Given the description of an element on the screen output the (x, y) to click on. 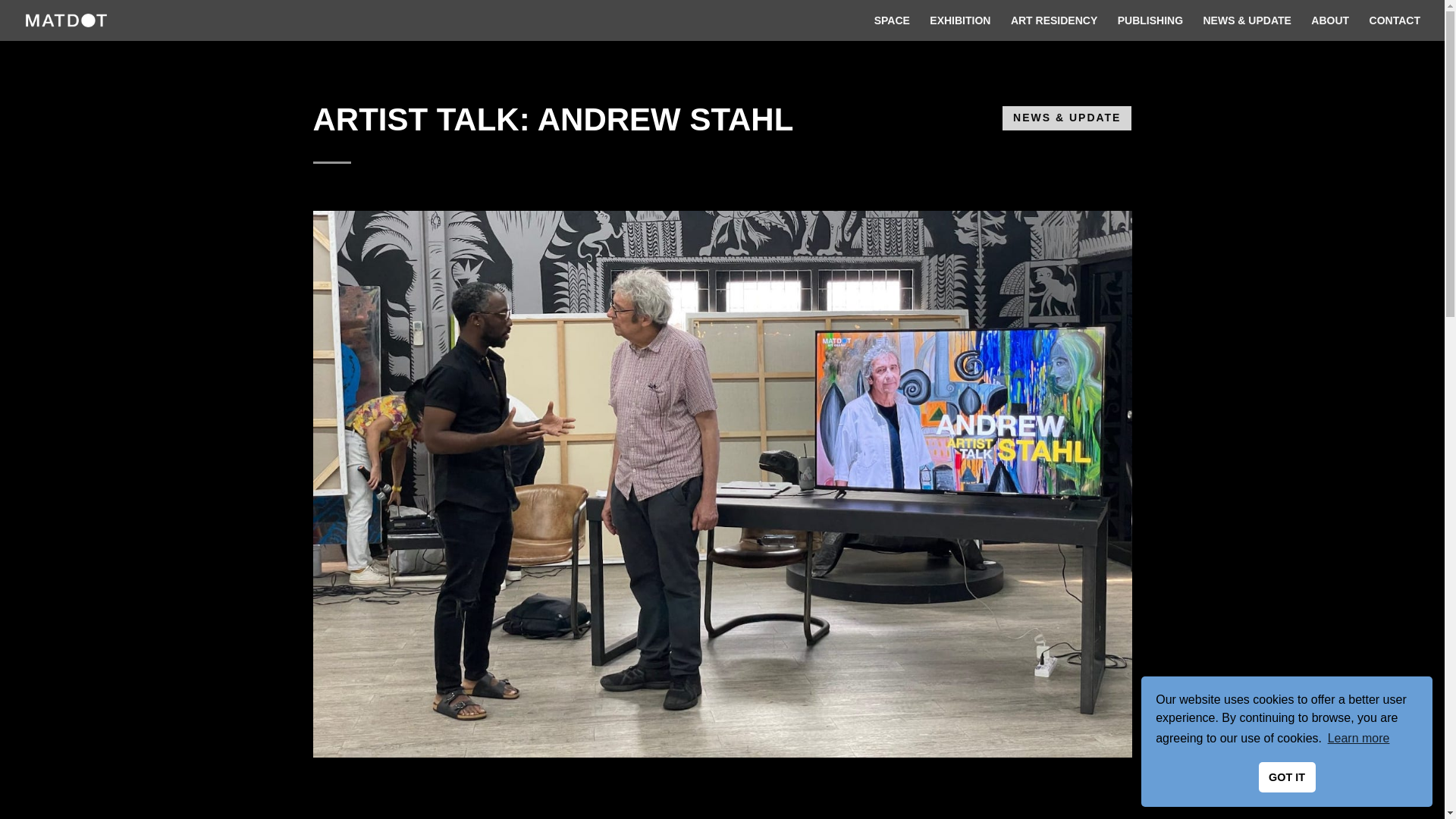
EXHIBITION (960, 27)
ART RESIDENCY (1053, 27)
GOT IT (1287, 777)
PUBLISHING (1150, 27)
CONTACT (1395, 27)
Learn more (1357, 738)
SPACE (892, 27)
ABOUT (1330, 27)
